Given the description of an element on the screen output the (x, y) to click on. 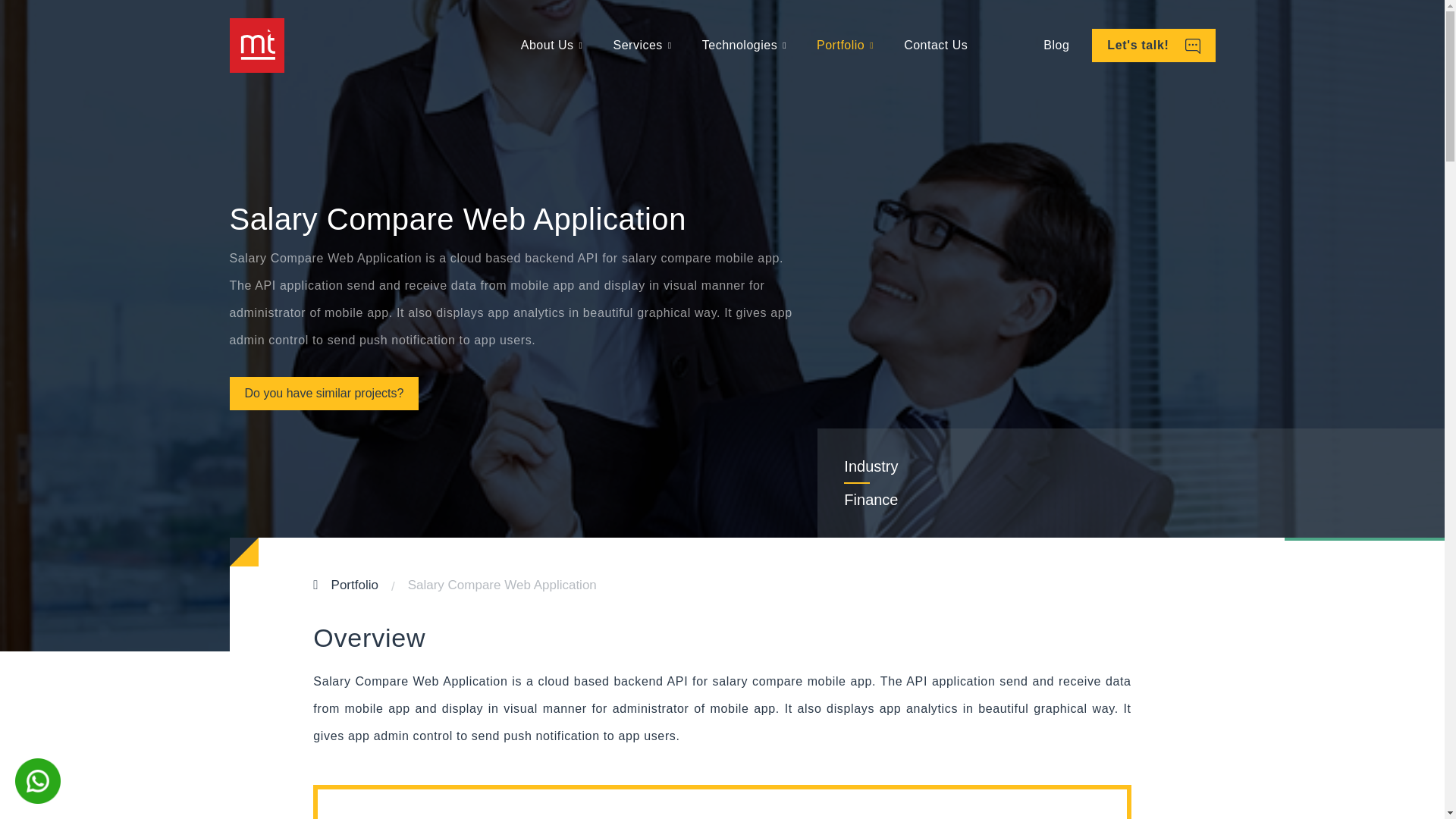
ManekTech (255, 45)
About Us (552, 45)
About (552, 45)
whatsapp icon (37, 780)
